Given the description of an element on the screen output the (x, y) to click on. 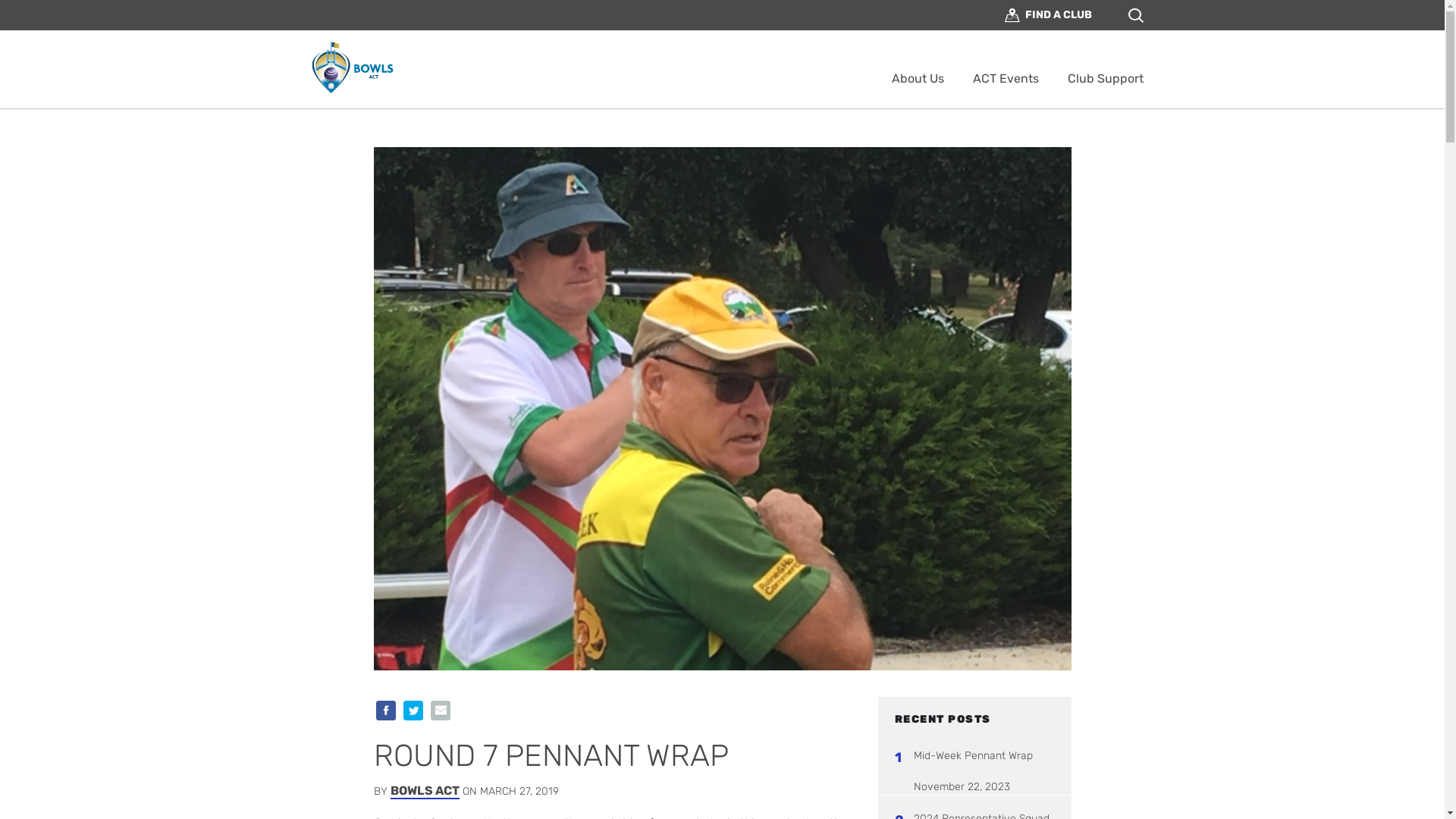
Bowls ACT Element type: hover (352, 67)
FIND A CLUB Element type: text (1047, 15)
About Us Element type: text (917, 78)
ACT Events Element type: text (1005, 78)
Club Support Element type: text (1105, 78)
Search Element type: text (831, 75)
Mid-Week Pennant Wrap Element type: text (983, 755)
BOWLS ACT Element type: text (423, 791)
